Given the description of an element on the screen output the (x, y) to click on. 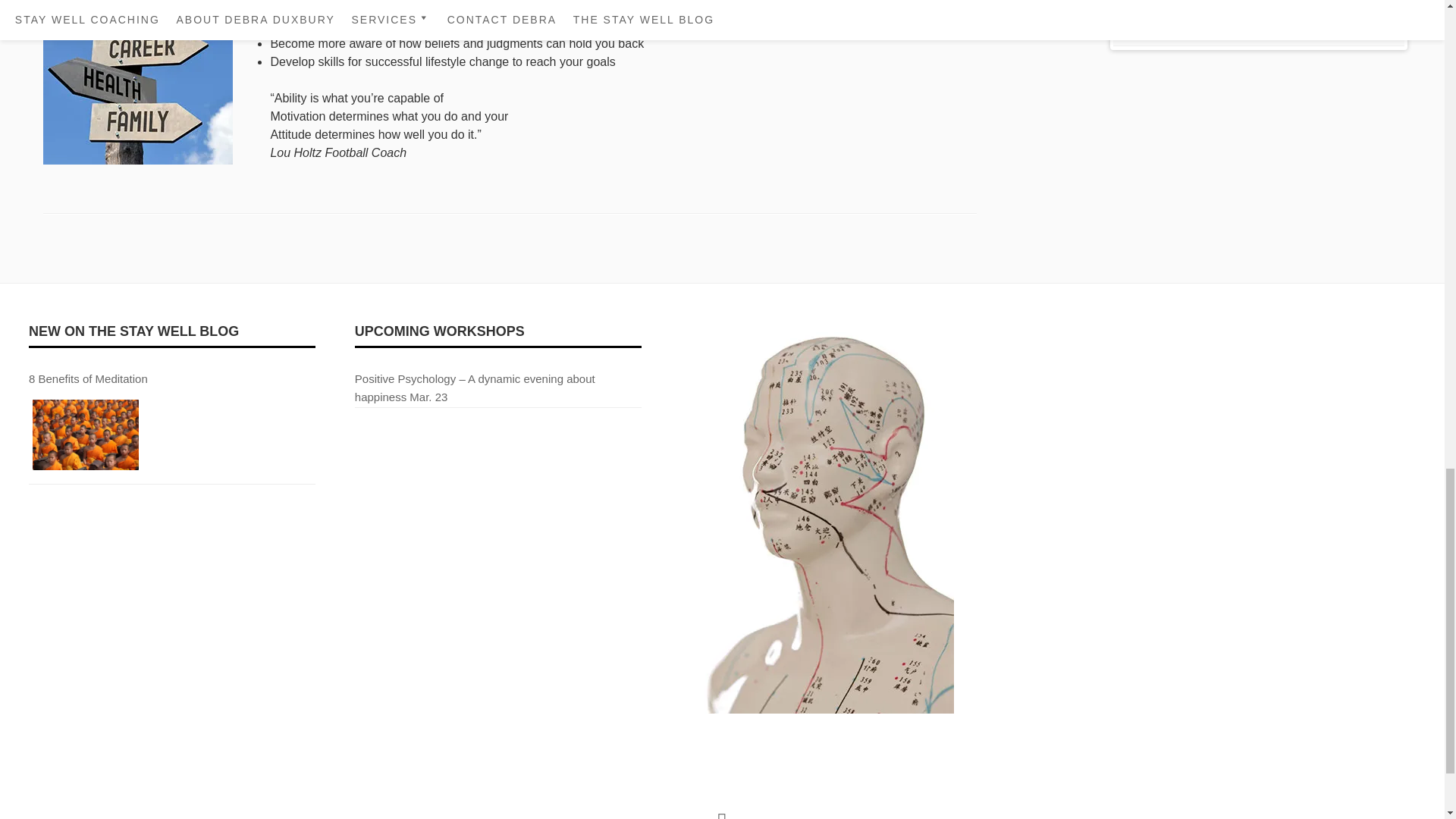
Submit (1157, 7)
8 Benefits of Meditation (85, 437)
Submit (1157, 7)
8 Benefits of Meditation (88, 378)
